Given the description of an element on the screen output the (x, y) to click on. 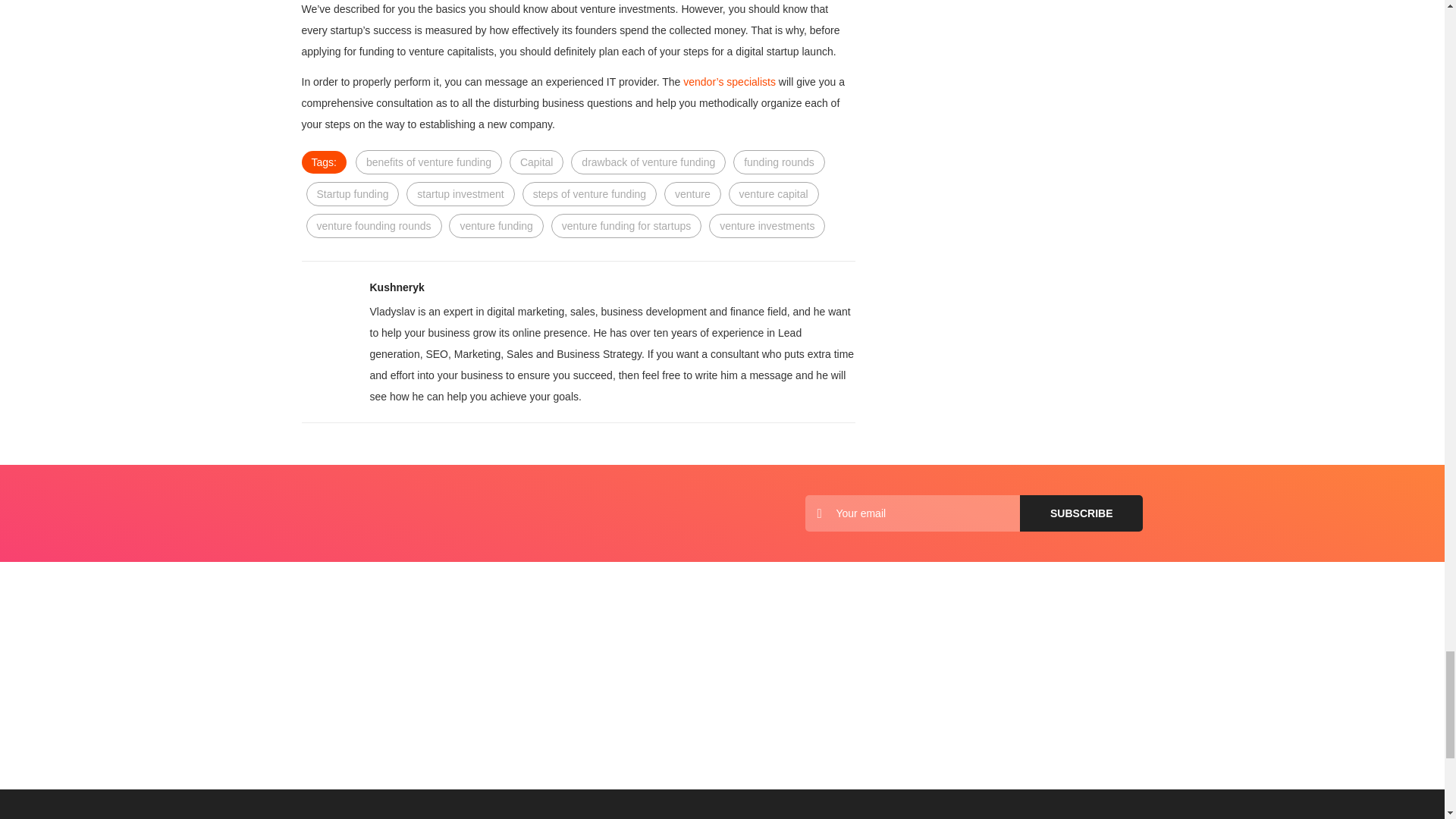
Capital (536, 161)
benefits of venture funding (428, 161)
steps of venture funding (589, 193)
funding rounds (779, 161)
startup investment (459, 193)
venture (691, 193)
Subscribe (1081, 513)
Startup funding (351, 193)
drawback of venture funding (647, 161)
venture capital (773, 193)
